Given the description of an element on the screen output the (x, y) to click on. 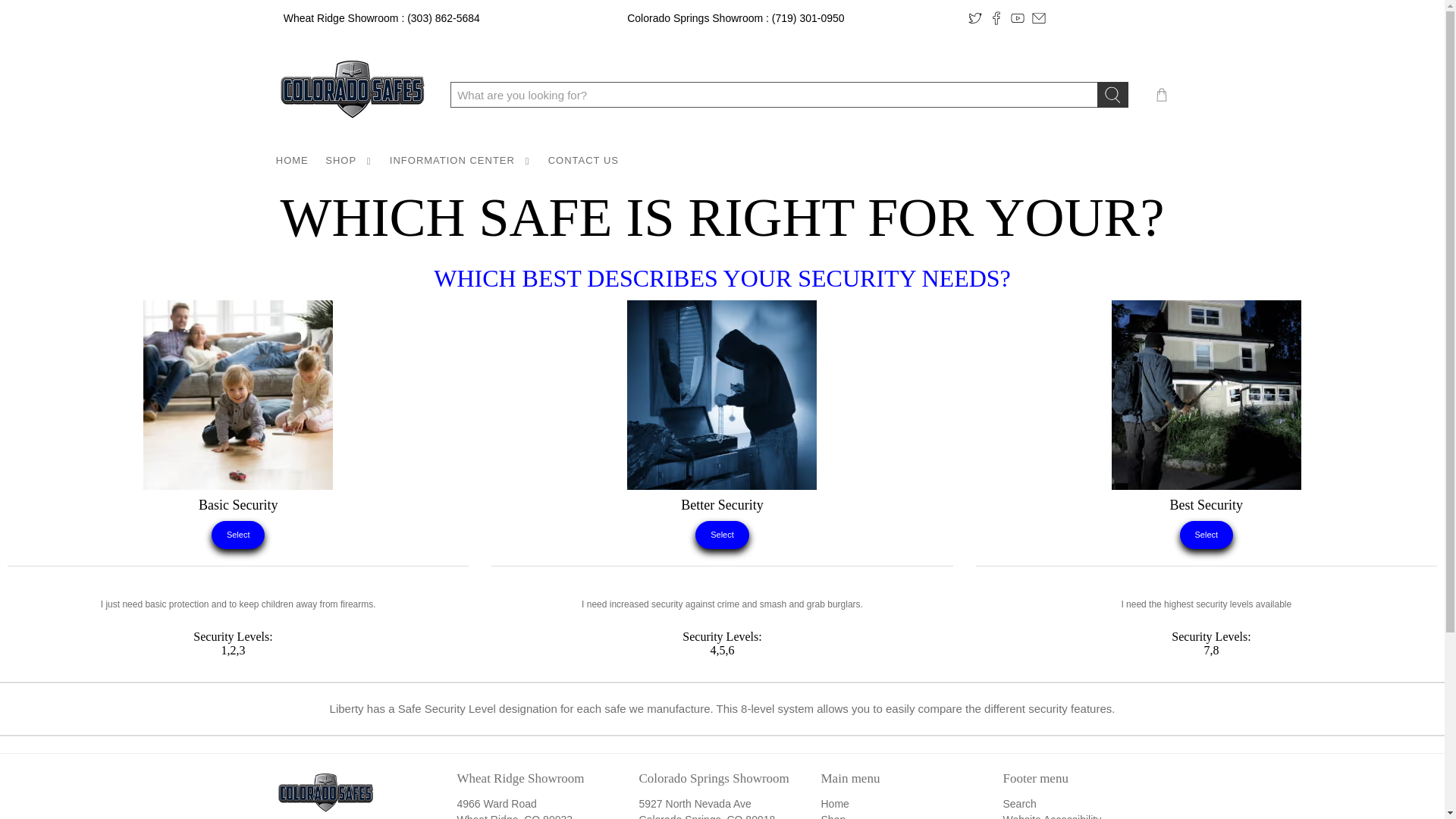
Liberty Safe of Colorado on Twitter (974, 18)
Liberty Safe of Colorado on YouTube (1017, 18)
HOME (291, 160)
INFORMATION CENTER (460, 160)
Liberty Safe of Colorado on Facebook (996, 18)
Liberty Safe of Colorado (352, 94)
Email Liberty Safe of Colorado (1038, 18)
Liberty Safe of Colorado (324, 794)
SHOP (349, 160)
CONTACT US (582, 160)
